Given the description of an element on the screen output the (x, y) to click on. 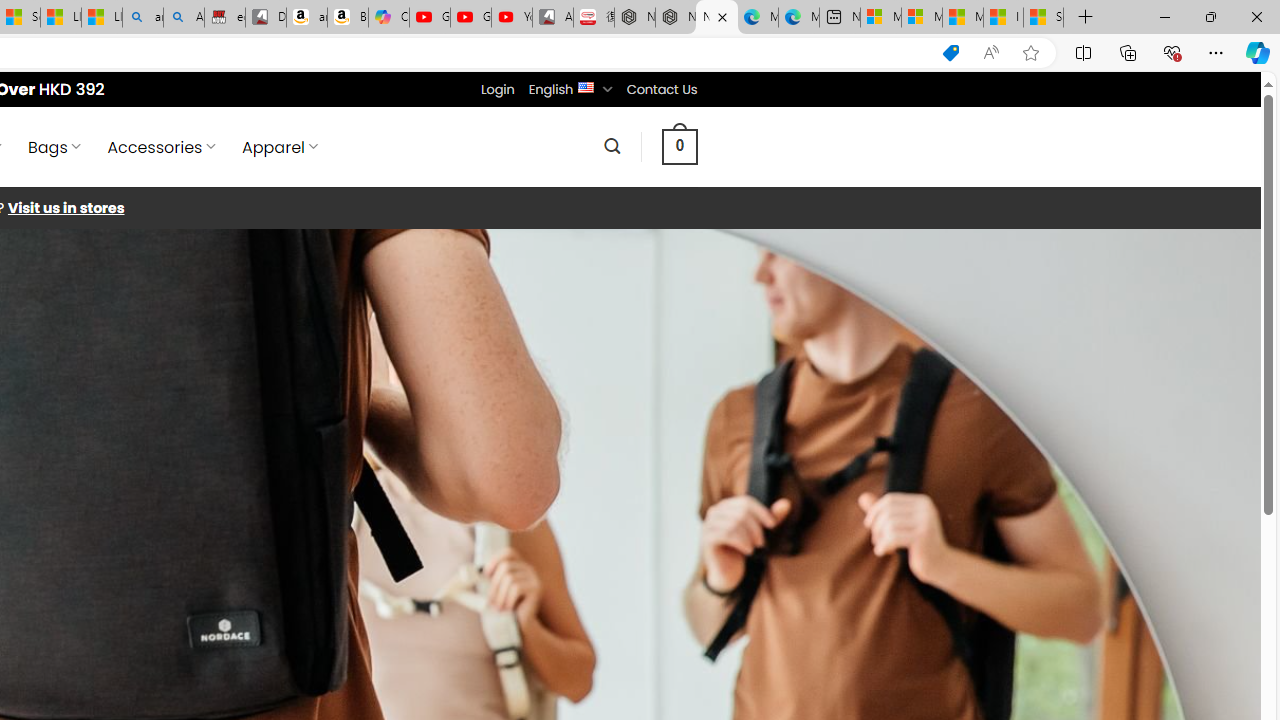
amazon.in/dp/B0CX59H5W7/?tag=gsmcom05-21 (306, 17)
Amazon Echo Dot PNG - Search Images (183, 17)
Login (497, 89)
Microsoft account | Privacy (922, 17)
This site has coupons! Shopping in Microsoft Edge (950, 53)
Visit us in stores (65, 208)
Nordace - Nordace has arrived Hong Kong (717, 17)
